Given the description of an element on the screen output the (x, y) to click on. 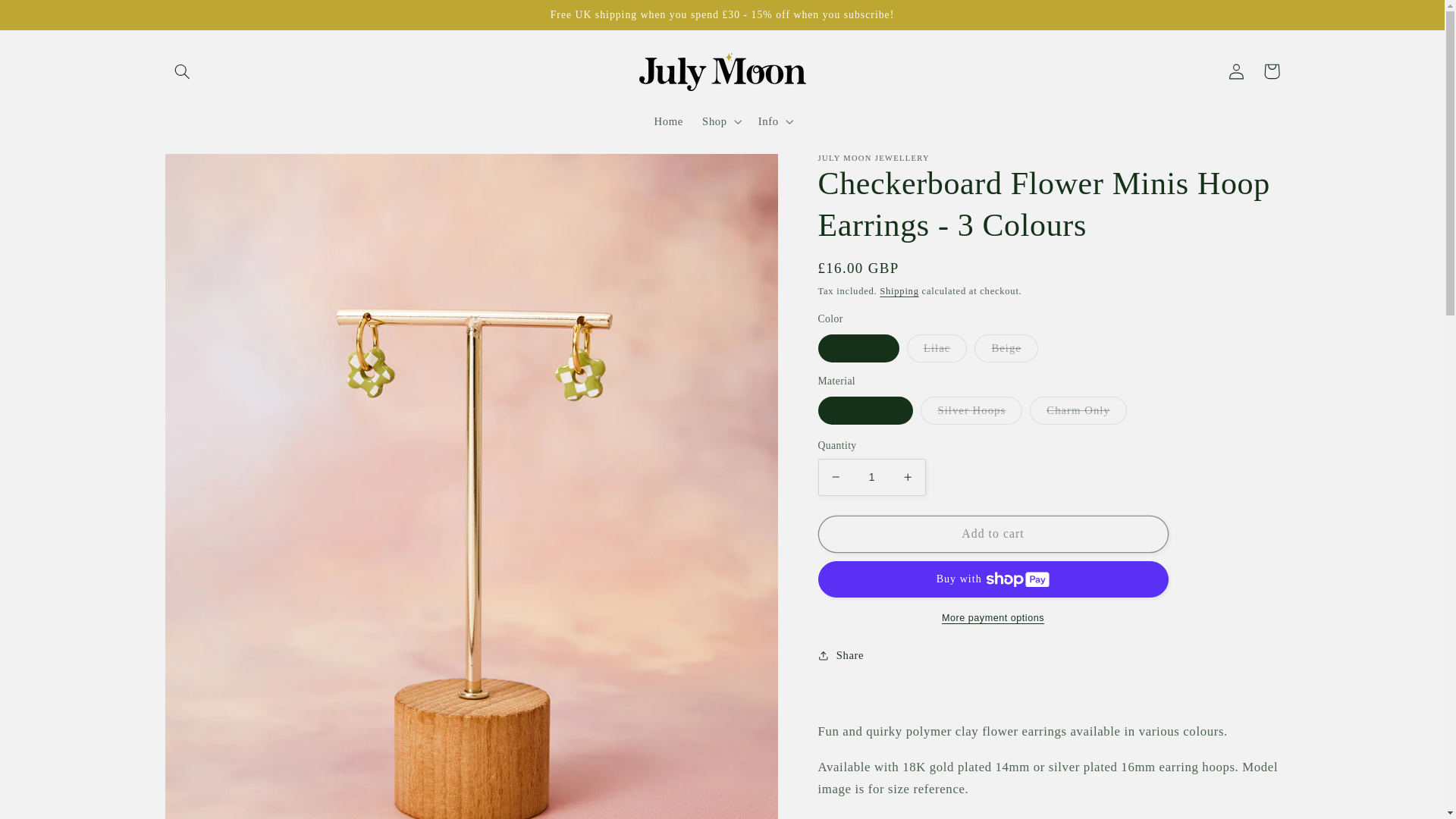
Skip to content (48, 18)
1 (870, 477)
Home (669, 121)
Cart (1270, 71)
Log in (1236, 71)
